Given the description of an element on the screen output the (x, y) to click on. 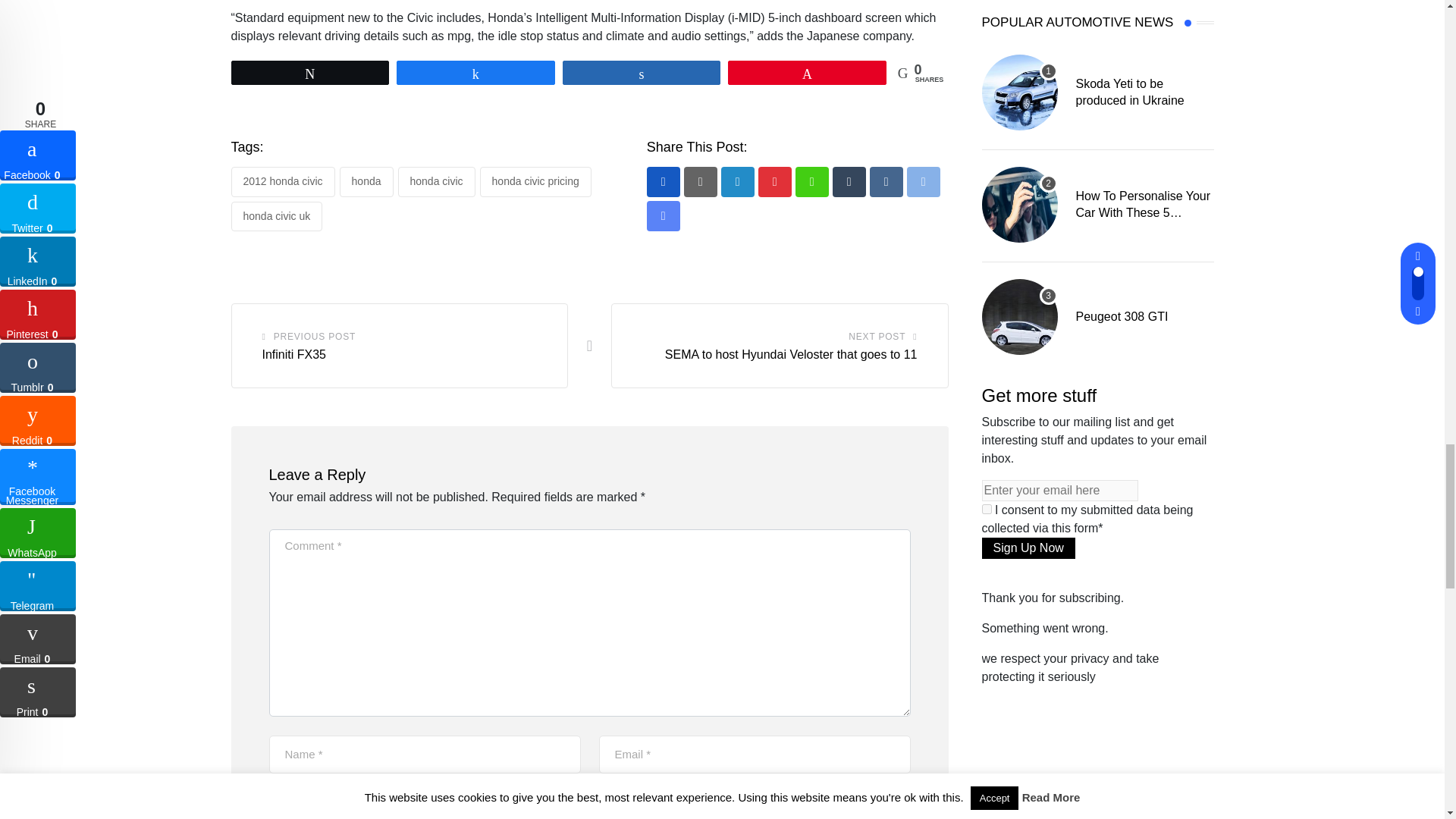
Sign Up Now (1027, 547)
on (986, 509)
yes (272, 800)
